Given the description of an element on the screen output the (x, y) to click on. 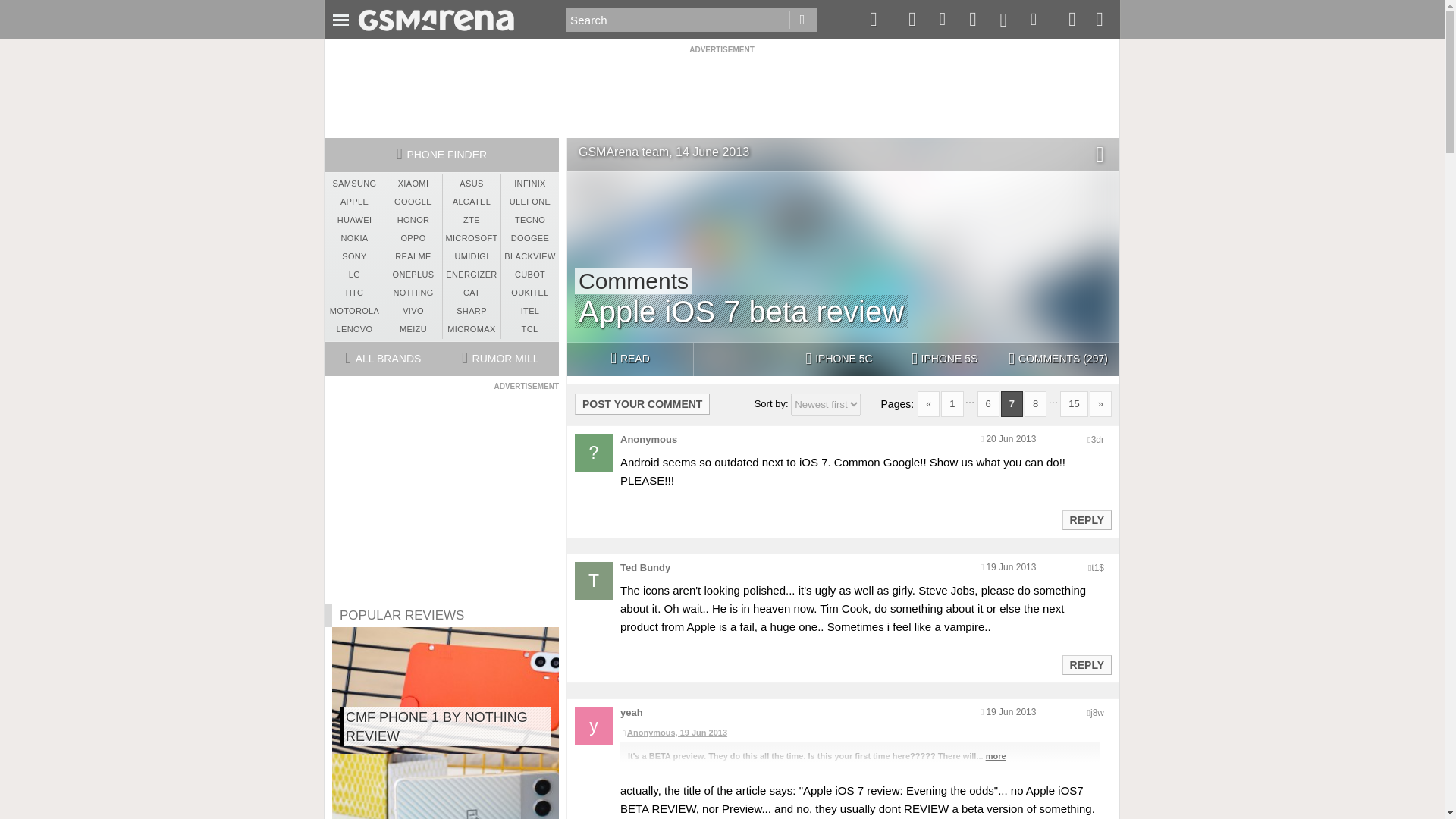
Sort comments by (825, 404)
Go (802, 19)
Reply to this post (1086, 664)
Reply to this post (1086, 520)
IPHONE 5C (838, 359)
Encoded anonymized location (1096, 712)
READ (630, 359)
POST YOUR COMMENT (642, 403)
Go (802, 19)
IPHONE 5S (944, 359)
Encoded anonymized location (1096, 439)
Encoded anonymized location (1096, 567)
